Given the description of an element on the screen output the (x, y) to click on. 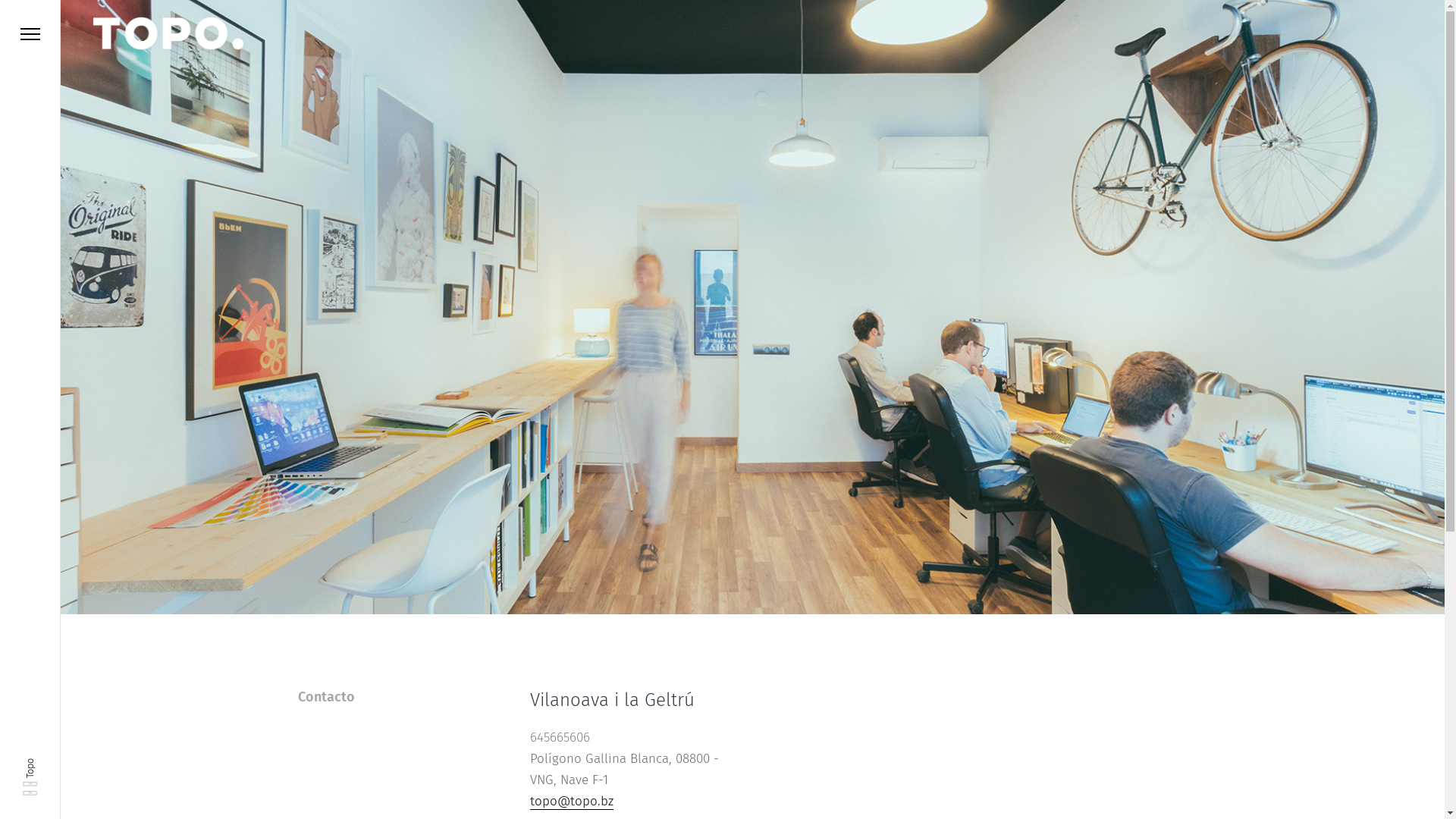
645665606 Element type: text (559, 737)
topo@topo.bz Element type: text (571, 801)
Topo Element type: text (33, 763)
